Given the description of an element on the screen output the (x, y) to click on. 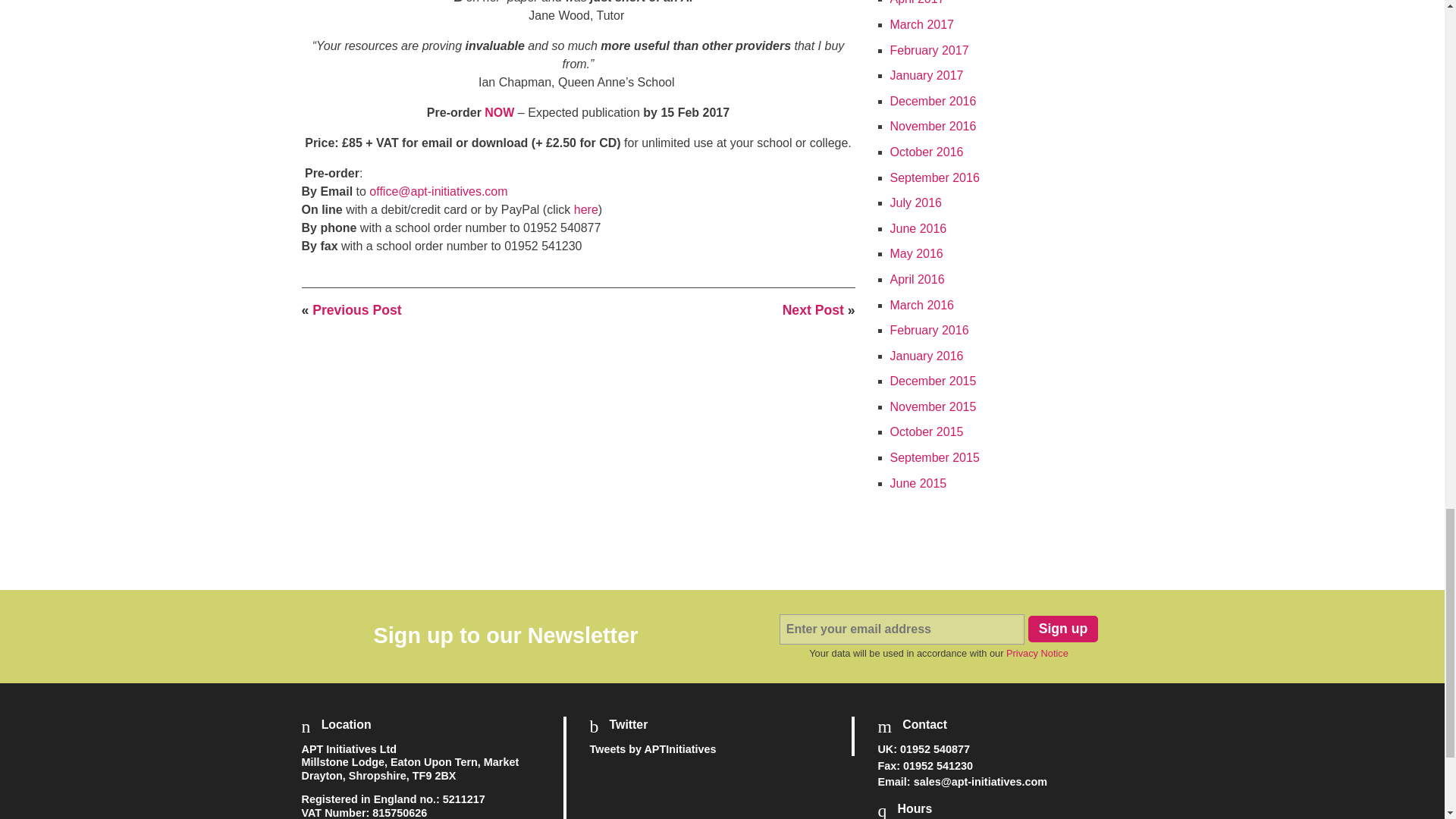
Call (934, 748)
Email (980, 781)
Sign up (1063, 628)
